Given the description of an element on the screen output the (x, y) to click on. 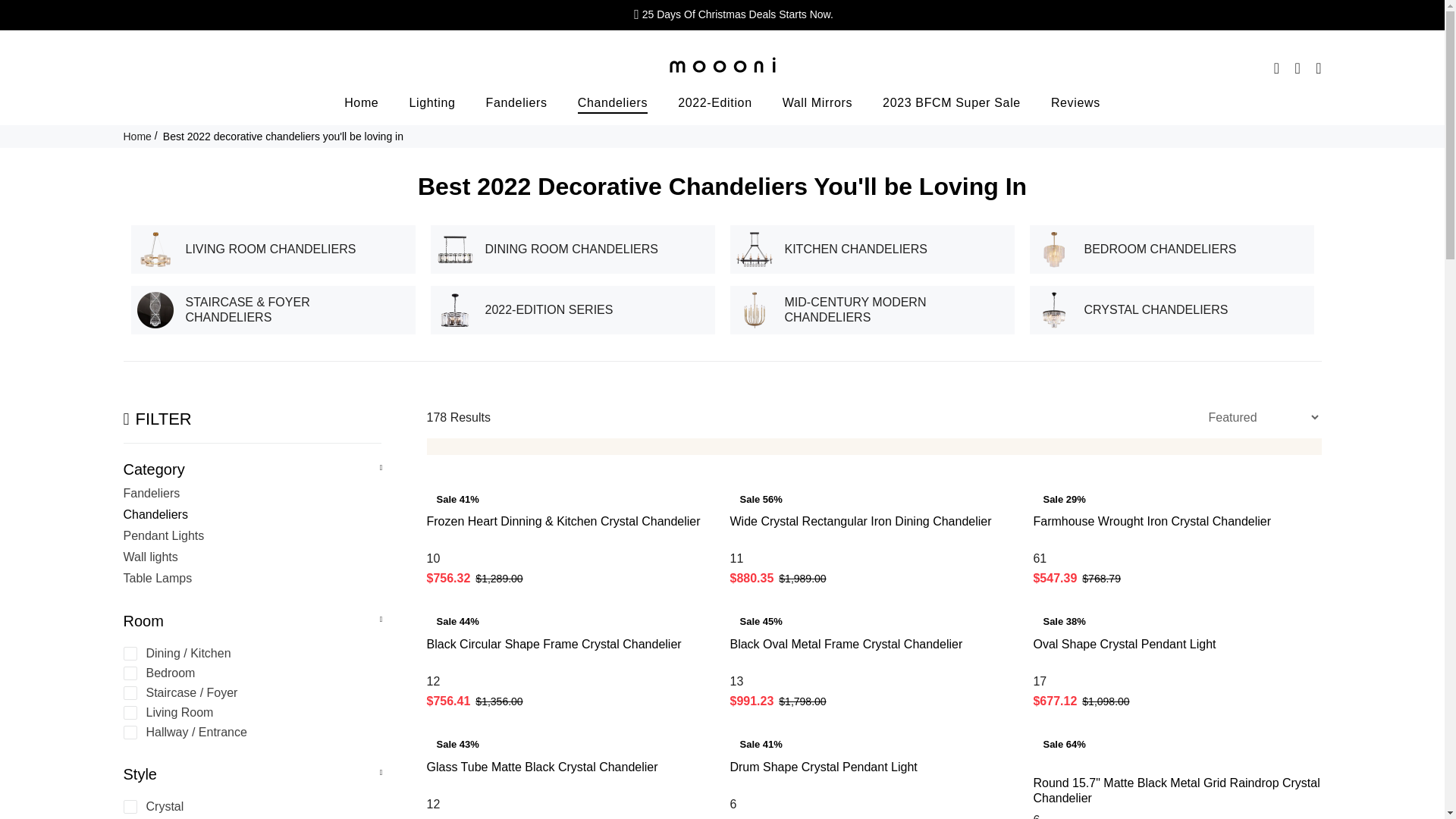
Show products matching tag living room (249, 712)
Show products matching tag bedroom (249, 673)
Show products matching tag crystal (249, 807)
